Given the description of an element on the screen output the (x, y) to click on. 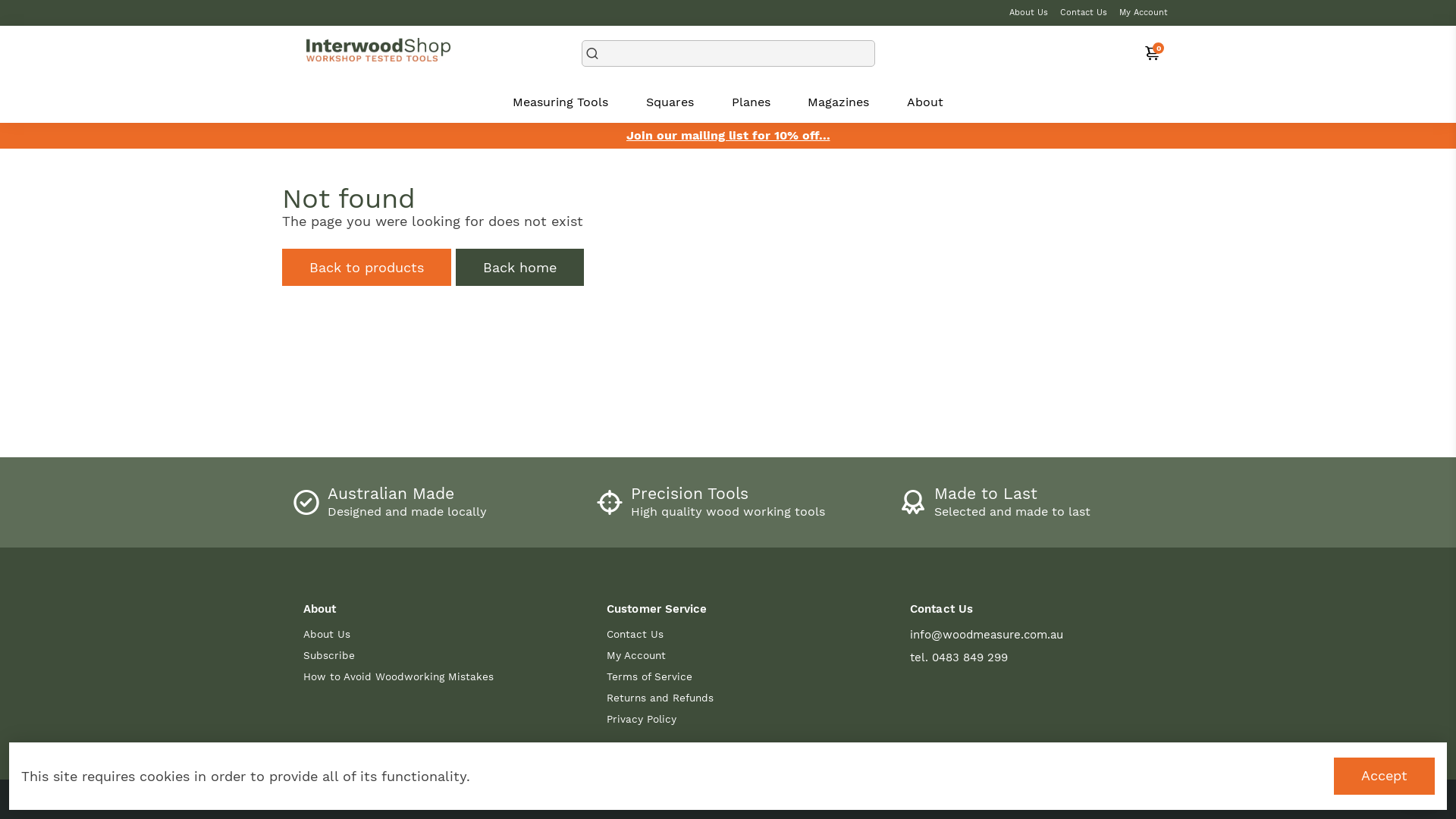
Terms of Service Element type: text (659, 676)
Back to products Element type: text (366, 266)
About Us Element type: text (1028, 12)
Contact Us Element type: text (1083, 12)
How to Avoid Woodworking Mistakes Element type: text (398, 676)
Back home Element type: text (519, 266)
Contact Us Element type: text (659, 633)
Measuring Tools Element type: text (560, 101)
Subscribe Element type: text (398, 655)
Privacy Policy Element type: text (659, 718)
Squares Element type: text (669, 101)
tel. 0483 849 299 Element type: text (986, 657)
About Us Element type: text (398, 633)
Returns and Refunds Element type: text (659, 697)
About Element type: text (924, 101)
info@woodmeasure.com.au Element type: text (986, 634)
Magazines Element type: text (838, 101)
Planes Element type: text (749, 101)
Join our mailing list for 10% off... Element type: text (728, 135)
Accept Element type: text (1383, 775)
Curata Element type: text (790, 799)
My Account Element type: text (659, 655)
My Account Element type: text (1143, 12)
